Given the description of an element on the screen output the (x, y) to click on. 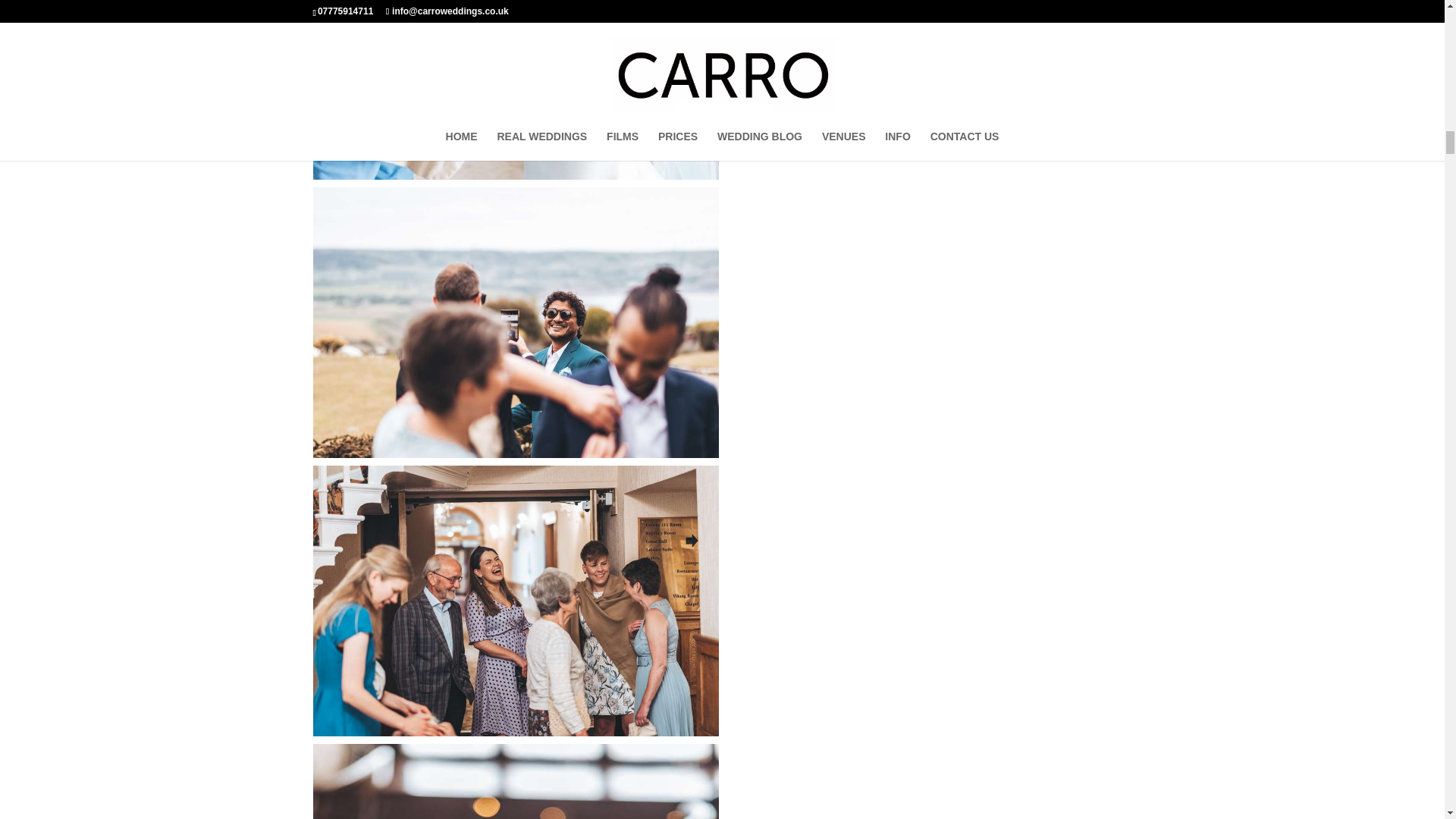
080623 Ayya and Elen Raven Hall Photos Socials Web-12 (515, 89)
080623 Ayya and Elen Raven Hall Photos Socials Web-14 (515, 601)
080623 Ayya and Elen Raven Hall Photos Socials Web-13 (515, 322)
